Given the description of an element on the screen output the (x, y) to click on. 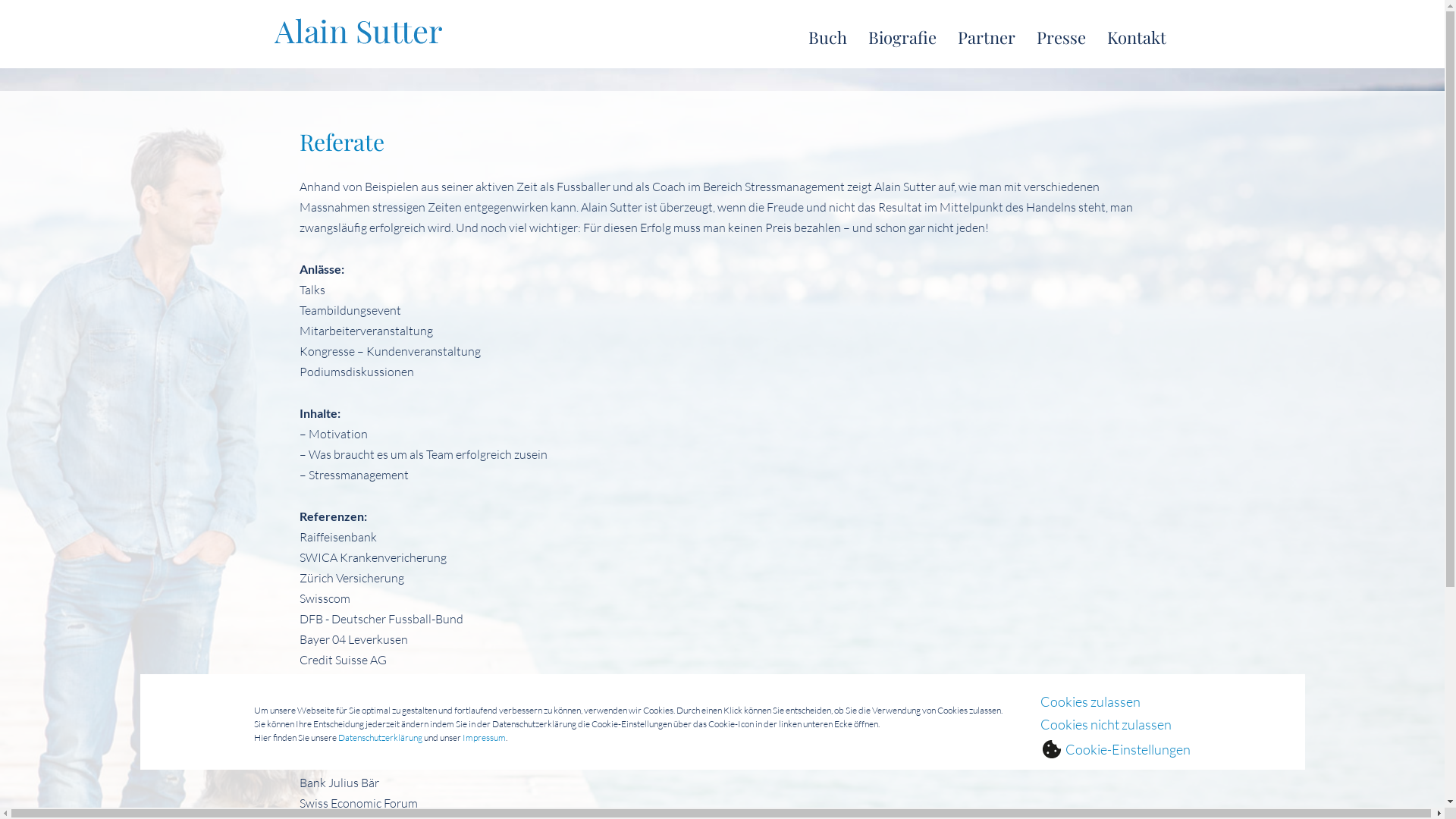
Cookie-Einstellungen Element type: text (1115, 748)
Biografie Element type: text (890, 37)
Cookies zulassen Element type: text (1090, 701)
Kontakt Element type: text (1125, 37)
Impressum Element type: text (483, 737)
Partner Element type: text (974, 37)
Cookies nicht zulassen Element type: text (1105, 723)
Buch Element type: text (817, 37)
Presse Element type: text (1049, 37)
